Given the description of an element on the screen output the (x, y) to click on. 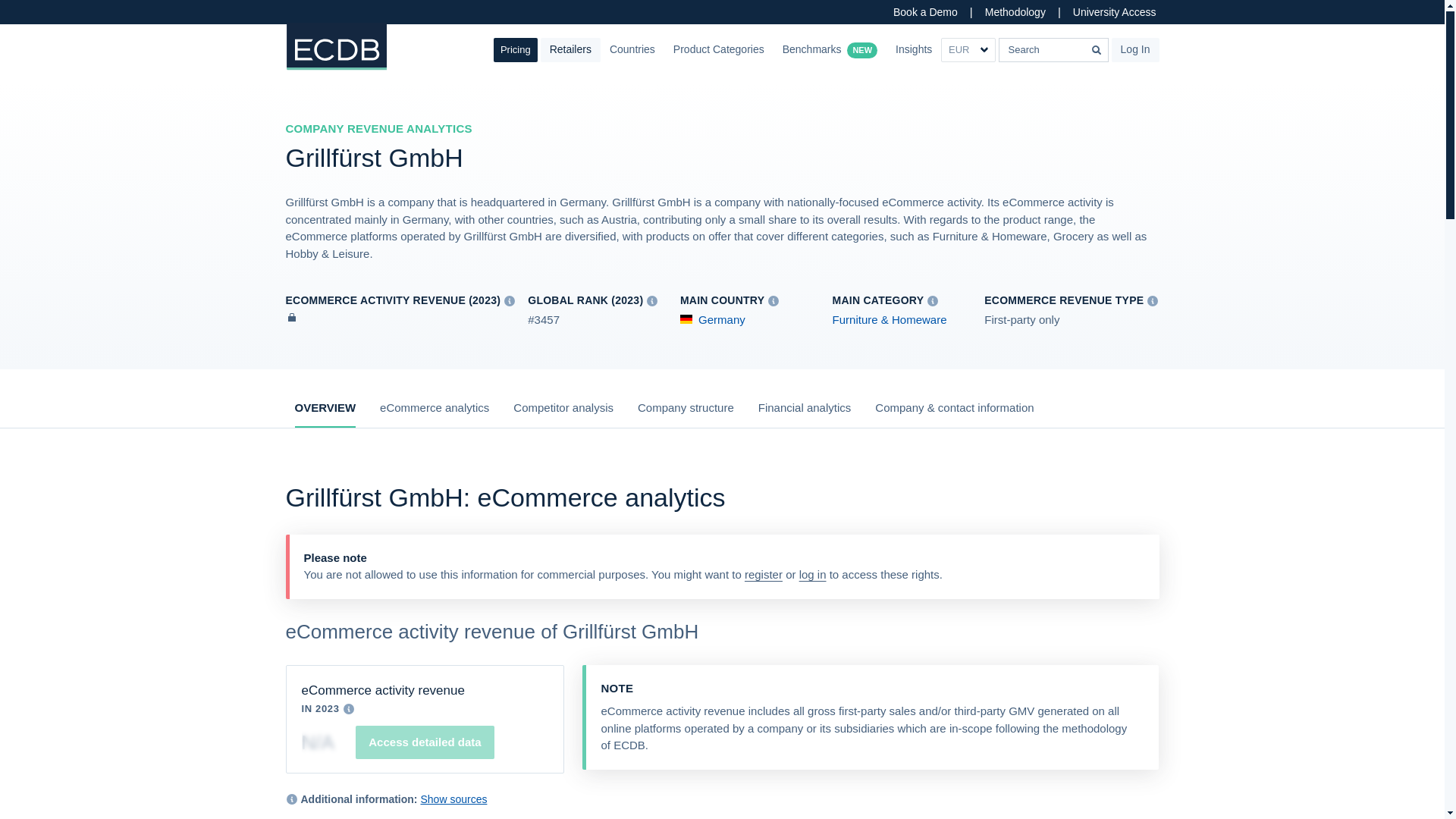
register (763, 574)
Book a Demo (925, 12)
Company structure (685, 413)
University Access (1114, 12)
Benchmarks NEW (829, 49)
Financial analytics (804, 413)
OVERVIEW (324, 413)
Log In (1135, 49)
Pricing (515, 49)
